Given the description of an element on the screen output the (x, y) to click on. 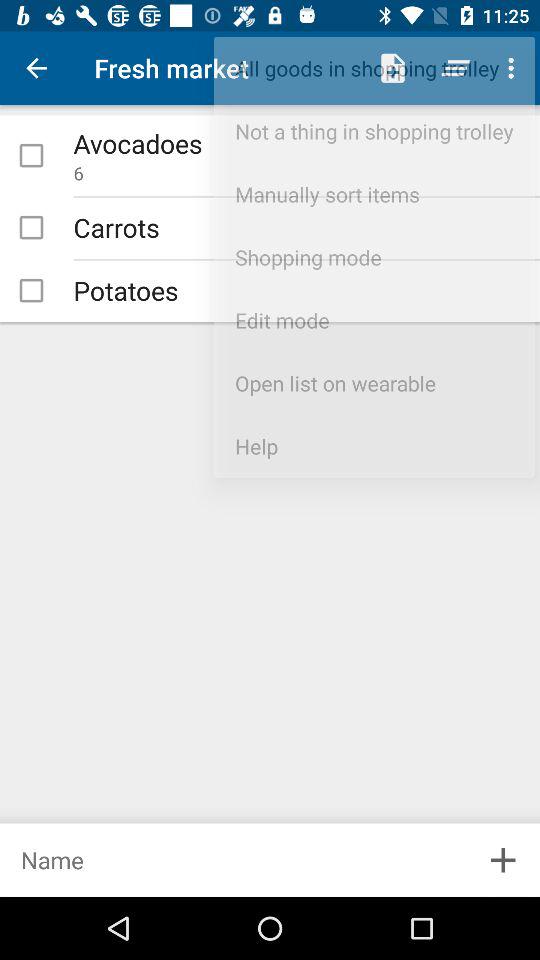
select option (31, 290)
